Given the description of an element on the screen output the (x, y) to click on. 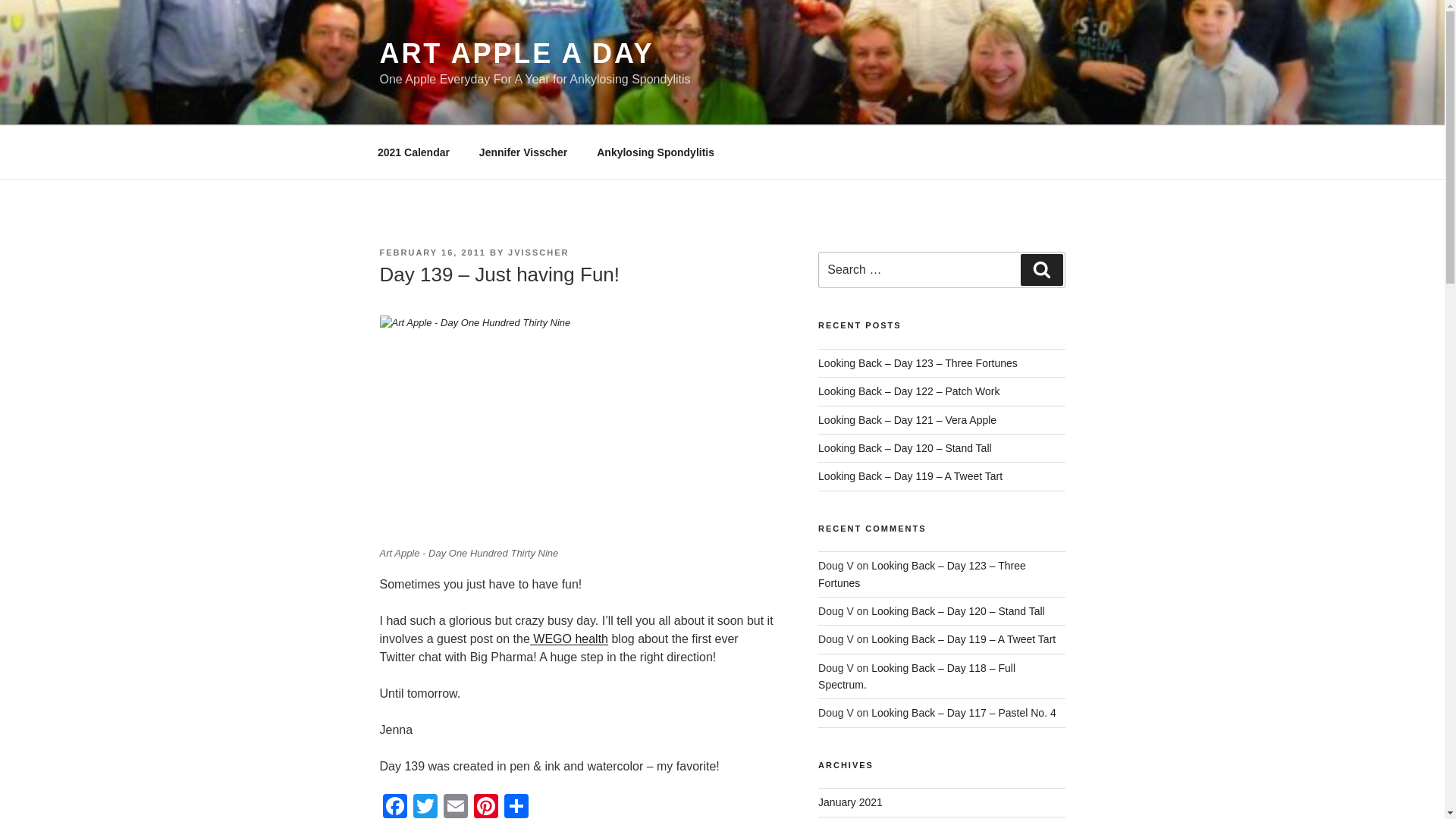
Pinterest (485, 806)
ART APPLE A DAY (515, 52)
Twitter (424, 806)
Search (1041, 269)
Facebook (393, 806)
Pinterest (485, 806)
FEBRUARY 16, 2011 (431, 252)
Twitter (424, 806)
Jennifer Visscher (522, 151)
Email (454, 806)
WEGO health (568, 638)
Facebook (393, 806)
2021 Calendar (413, 151)
JVISSCHER (538, 252)
WEGO Health - a place for health bloggers (568, 638)
